Given the description of an element on the screen output the (x, y) to click on. 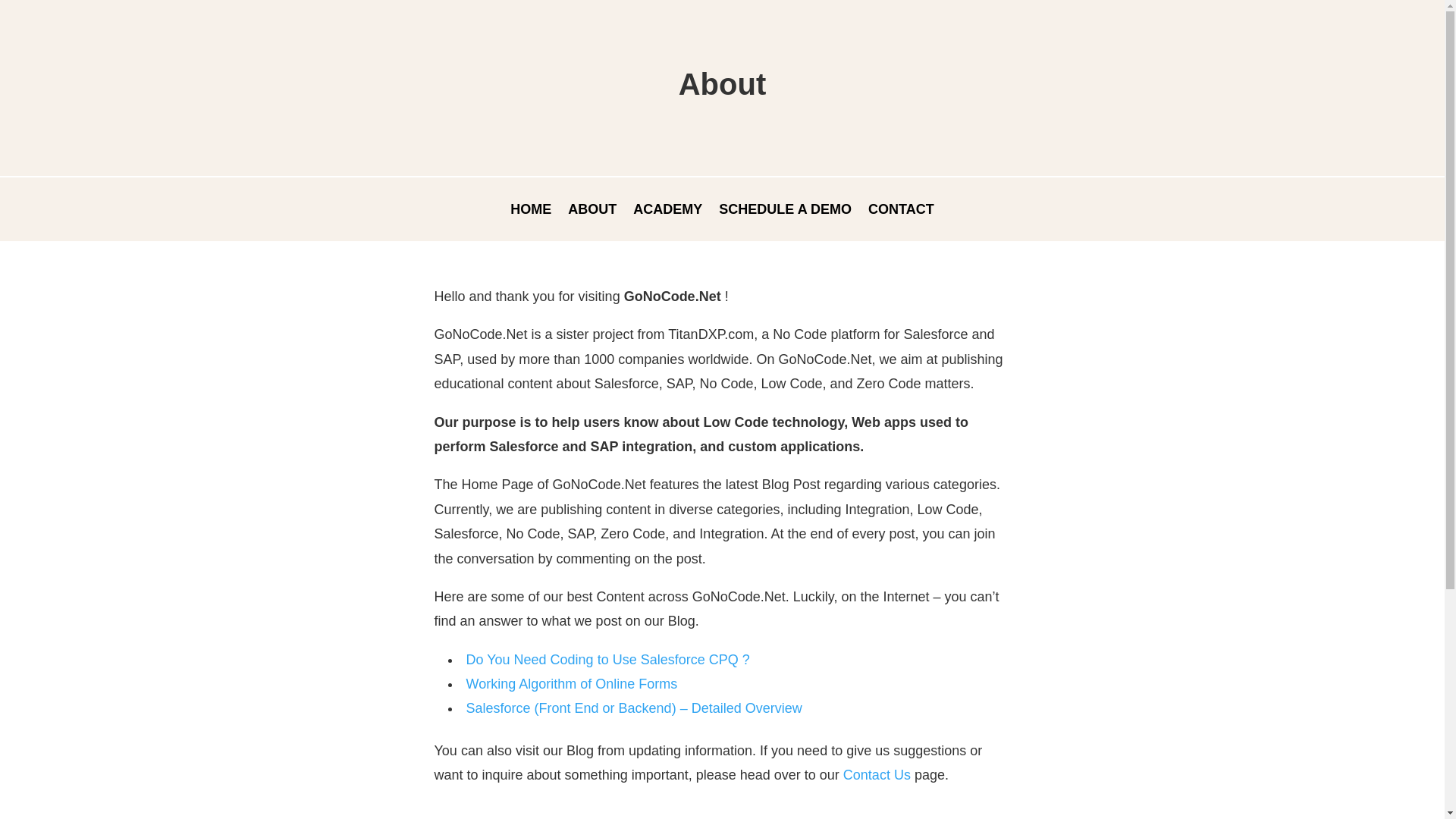
Contact Us (877, 774)
Working Algorithm of Online Forms (571, 683)
ABOUT (591, 211)
ACADEMY (667, 211)
SCHEDULE A DEMO (785, 211)
CONTACT (900, 211)
Do You Need Coding to Use Salesforce CPQ ? (607, 659)
HOME (531, 211)
